Given the description of an element on the screen output the (x, y) to click on. 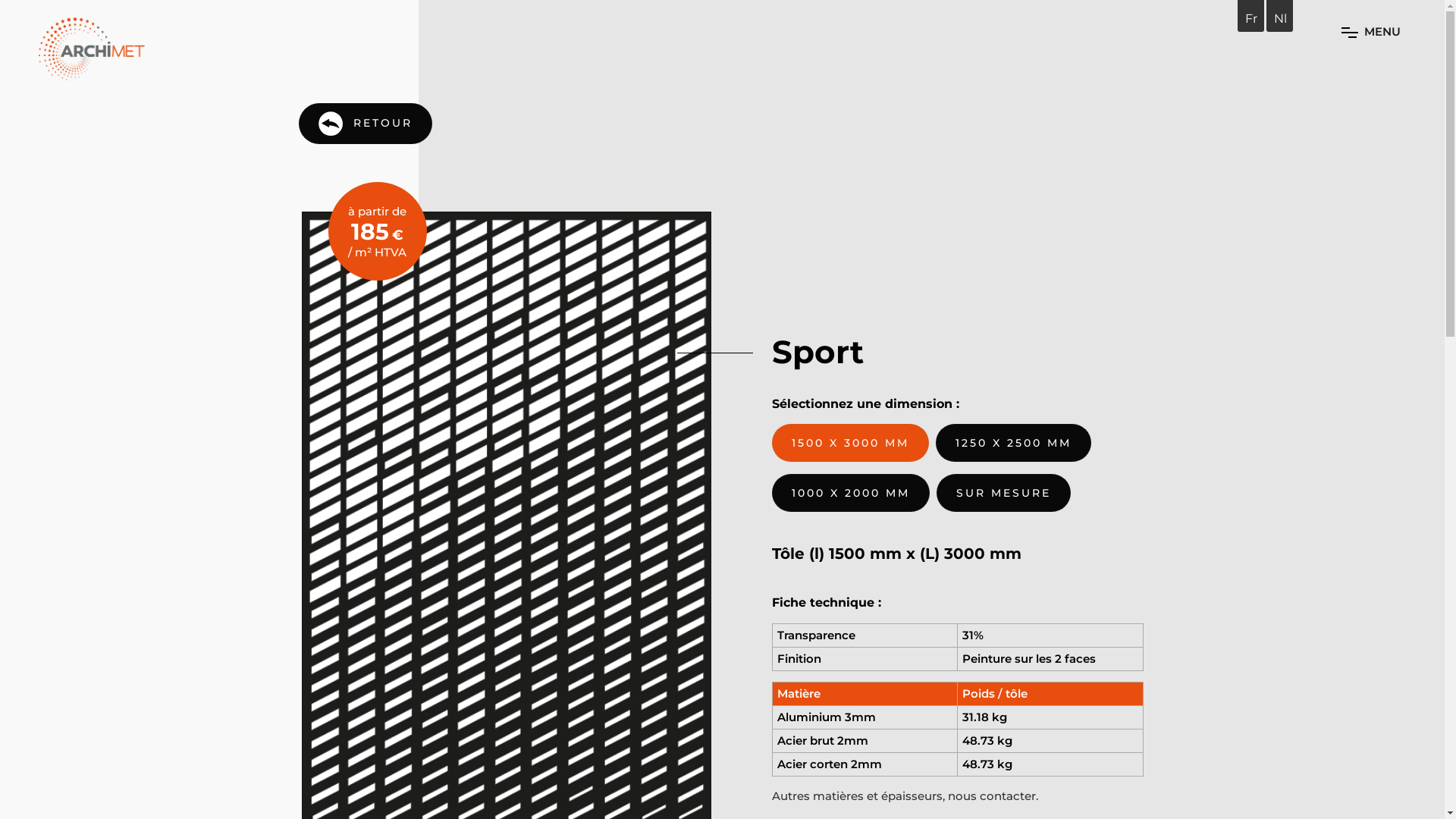
Nl Element type: text (1280, 18)
1500 X 3000 MM Element type: text (849, 442)
SUR MESURE Element type: text (1002, 492)
1000 X 2000 MM Element type: text (850, 492)
1250 X 2500 MM Element type: text (1013, 442)
  RETOUR Element type: text (365, 123)
Fr Element type: text (1251, 18)
